Given the description of an element on the screen output the (x, y) to click on. 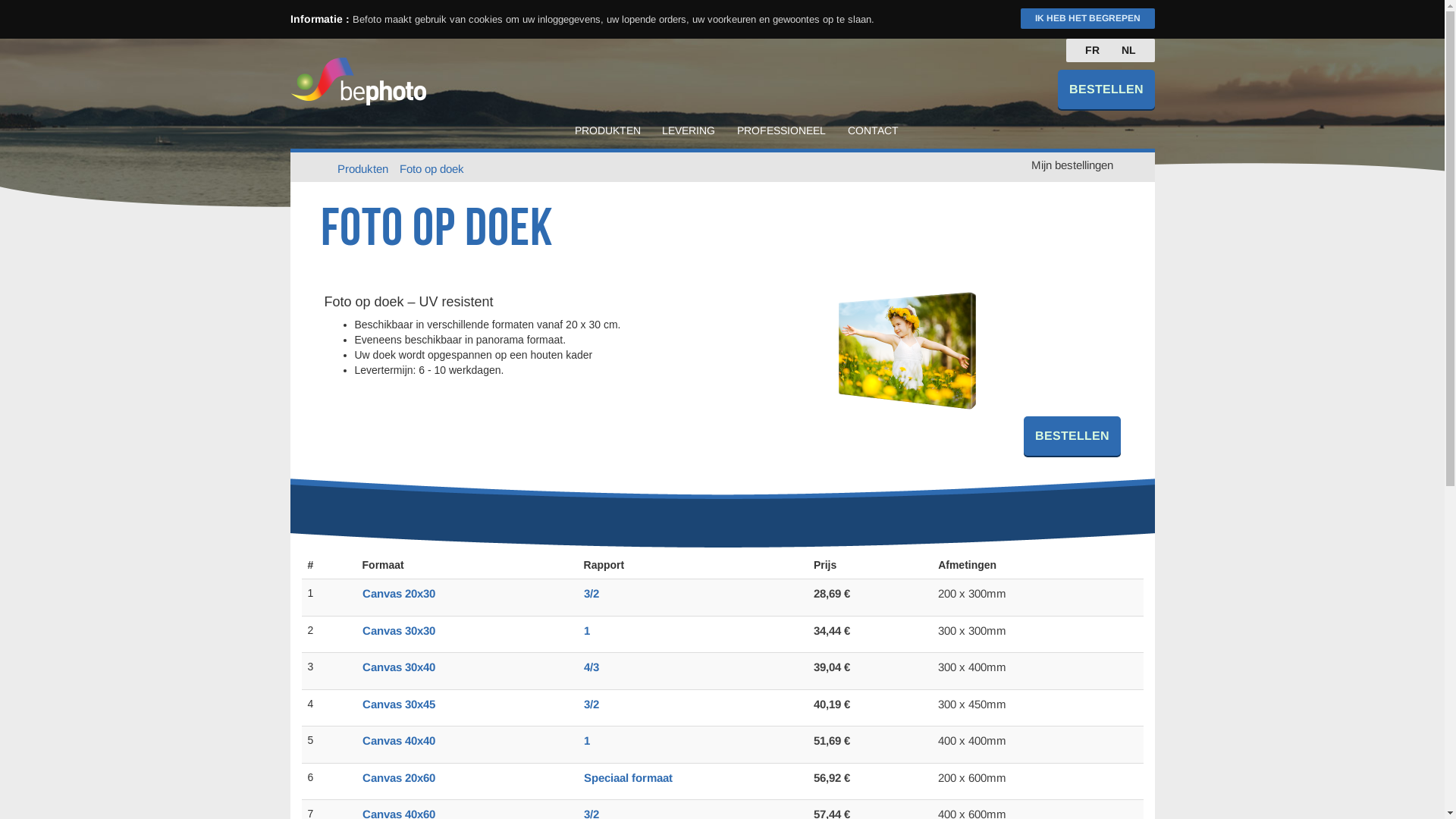
Mijn bestellingen Element type: text (1072, 164)
Produkten Element type: text (361, 169)
LEVERING Element type: text (688, 130)
Foto op doek Element type: text (431, 169)
NL Element type: text (1127, 49)
IK HEB HET BEGREPEN Element type: text (1087, 18)
PROFESSIONEEL Element type: text (781, 130)
FR Element type: text (1092, 49)
CONTACT Element type: text (872, 130)
BESTELLEN Element type: text (1071, 436)
BESTELLEN Element type: text (1105, 89)
PRODUKTEN Element type: text (607, 130)
